Given the description of an element on the screen output the (x, y) to click on. 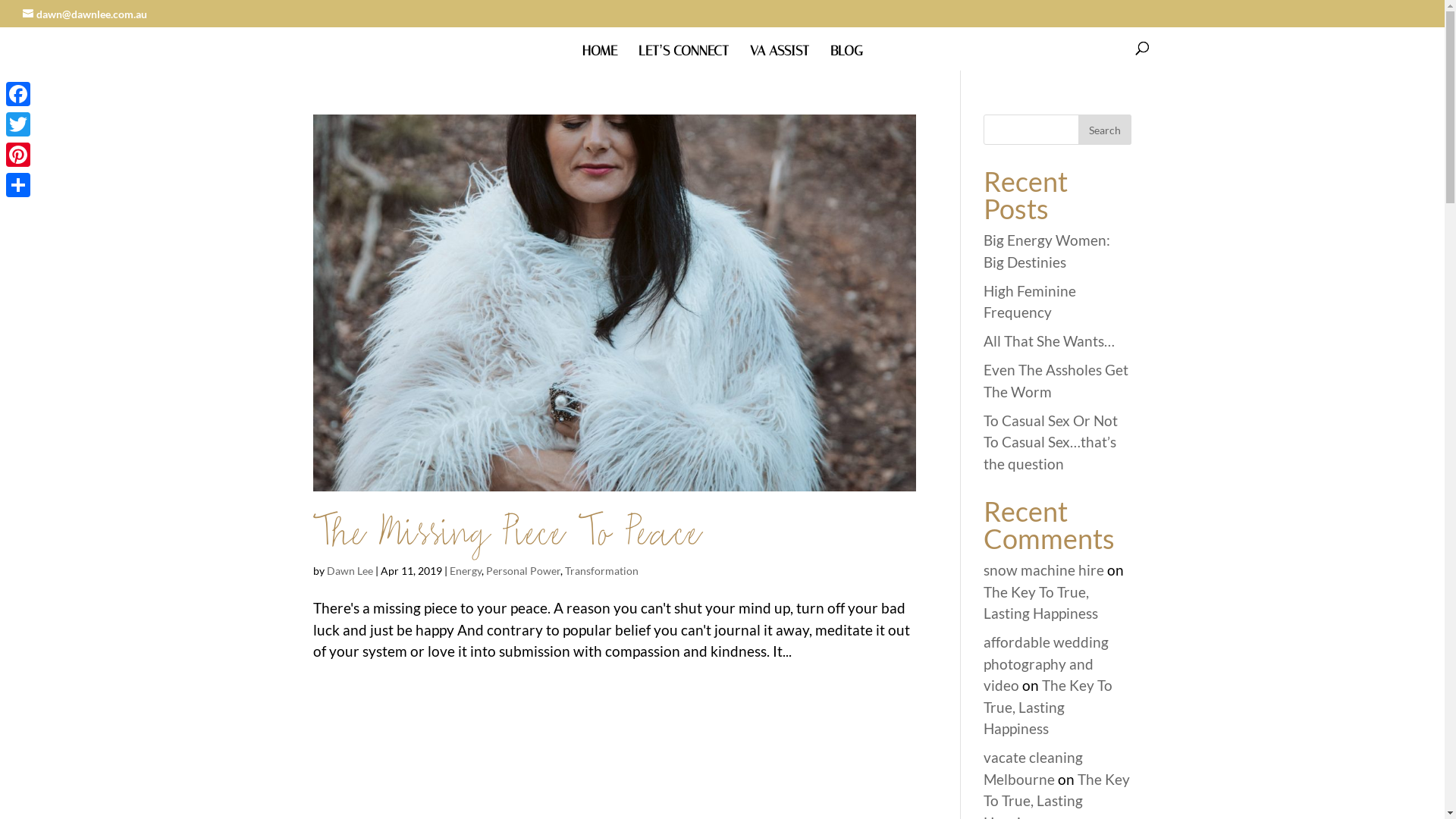
Twitter Element type: text (18, 124)
snow machine hire Element type: text (1043, 569)
BLOG Element type: text (845, 57)
The Key To True, Lasting Happiness Element type: text (1047, 706)
Search Element type: text (1104, 129)
Even The Assholes Get The Worm Element type: text (1055, 380)
The Missing Piece To Peace Element type: text (507, 533)
VA ASSIST Element type: text (778, 57)
Dawn Lee Element type: text (349, 570)
Share Element type: text (18, 184)
HOME Element type: text (599, 57)
Big Energy Women: Big Destinies Element type: text (1046, 250)
High Feminine Frequency Element type: text (1029, 301)
Energy Element type: text (464, 570)
Personal Power Element type: text (522, 570)
Pinterest Element type: text (18, 154)
Transformation Element type: text (600, 570)
Facebook Element type: text (18, 93)
dawn@dawnlee.com.au Element type: text (84, 13)
The Key To True, Lasting Happiness Element type: text (1040, 601)
affordable wedding photography and video Element type: text (1045, 663)
vacate cleaning Melbourne Element type: text (1032, 767)
